Given the description of an element on the screen output the (x, y) to click on. 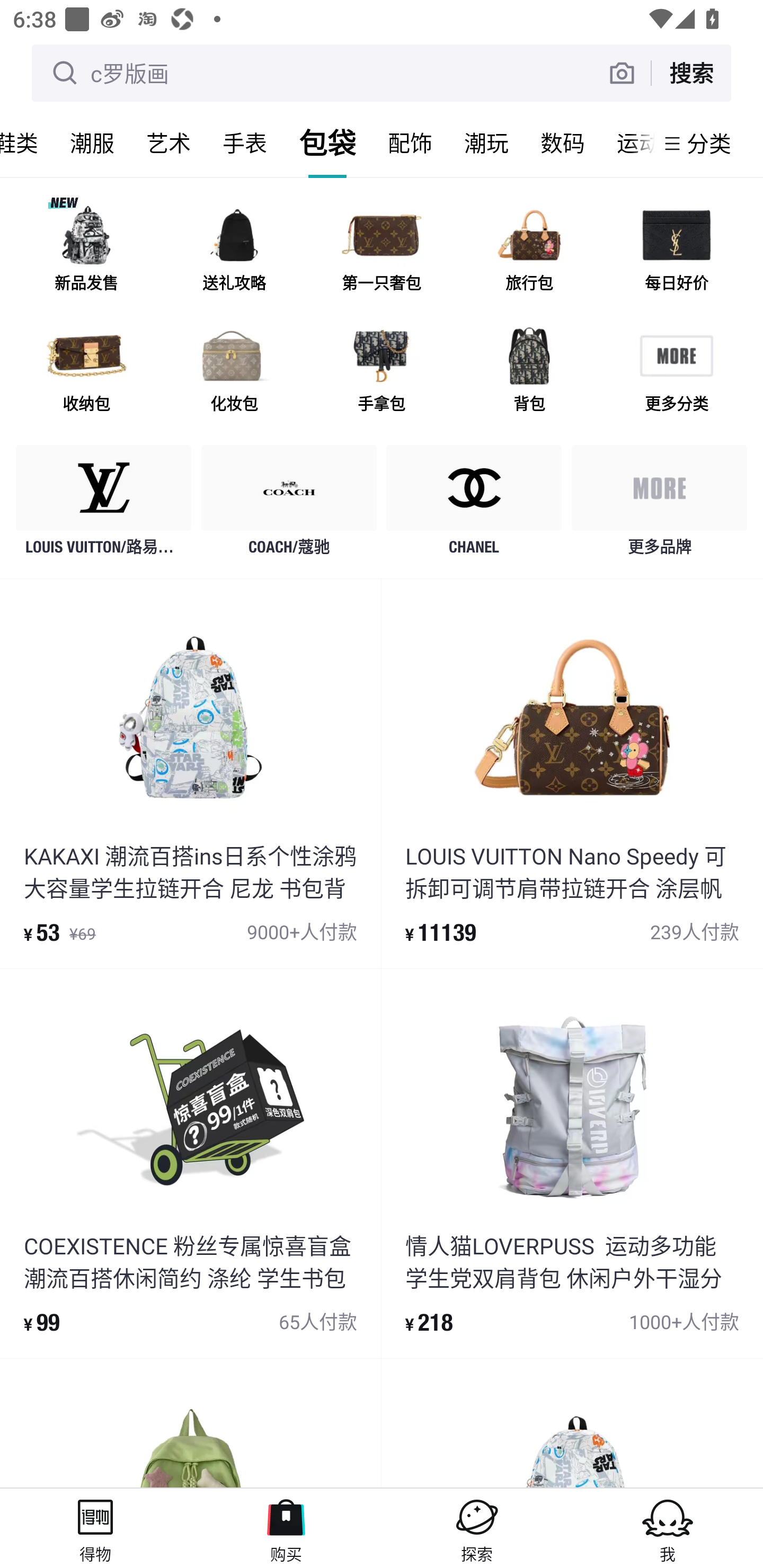
搜索 (690, 72)
鞋类 (27, 143)
潮服 (92, 143)
艺术 (168, 143)
手表 (244, 143)
包袋 (327, 143)
配饰 (410, 143)
潮玩 (486, 143)
数码 (562, 143)
运动 (627, 143)
分类 (708, 143)
新品发售 (86, 251)
送礼攻略 (233, 251)
第一只奢包 (381, 251)
旅行包 (528, 251)
每日好价 (676, 251)
收纳包 (86, 372)
化妆包 (233, 372)
手拿包 (381, 372)
背包 (528, 372)
更多分类 (676, 372)
LOUIS VUITTON/路易威登 (103, 505)
COACH/蔻驰 (288, 505)
CHANEL (473, 505)
更多品牌 (658, 505)
得物 (95, 1528)
购买 (285, 1528)
探索 (476, 1528)
我 (667, 1528)
